Given the description of an element on the screen output the (x, y) to click on. 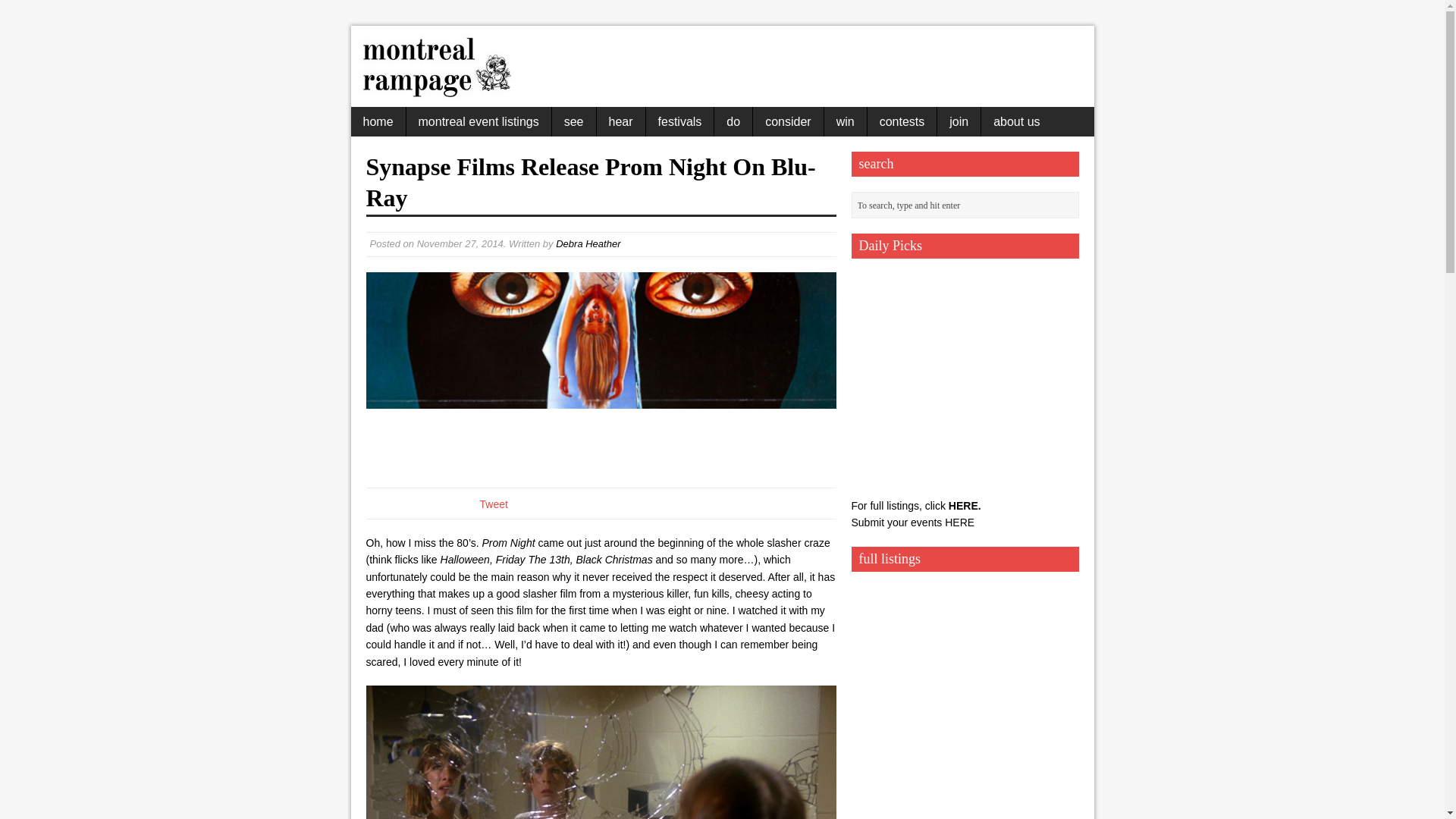
see (573, 121)
montreal event listings (478, 121)
home (377, 121)
win (845, 121)
festivals (680, 121)
consider (787, 121)
Montreal Rampage (435, 91)
Posts by Debra Heather (588, 243)
about us (1016, 121)
Screen-Shot-2014-09-12-at-11 (600, 371)
